Given the description of an element on the screen output the (x, y) to click on. 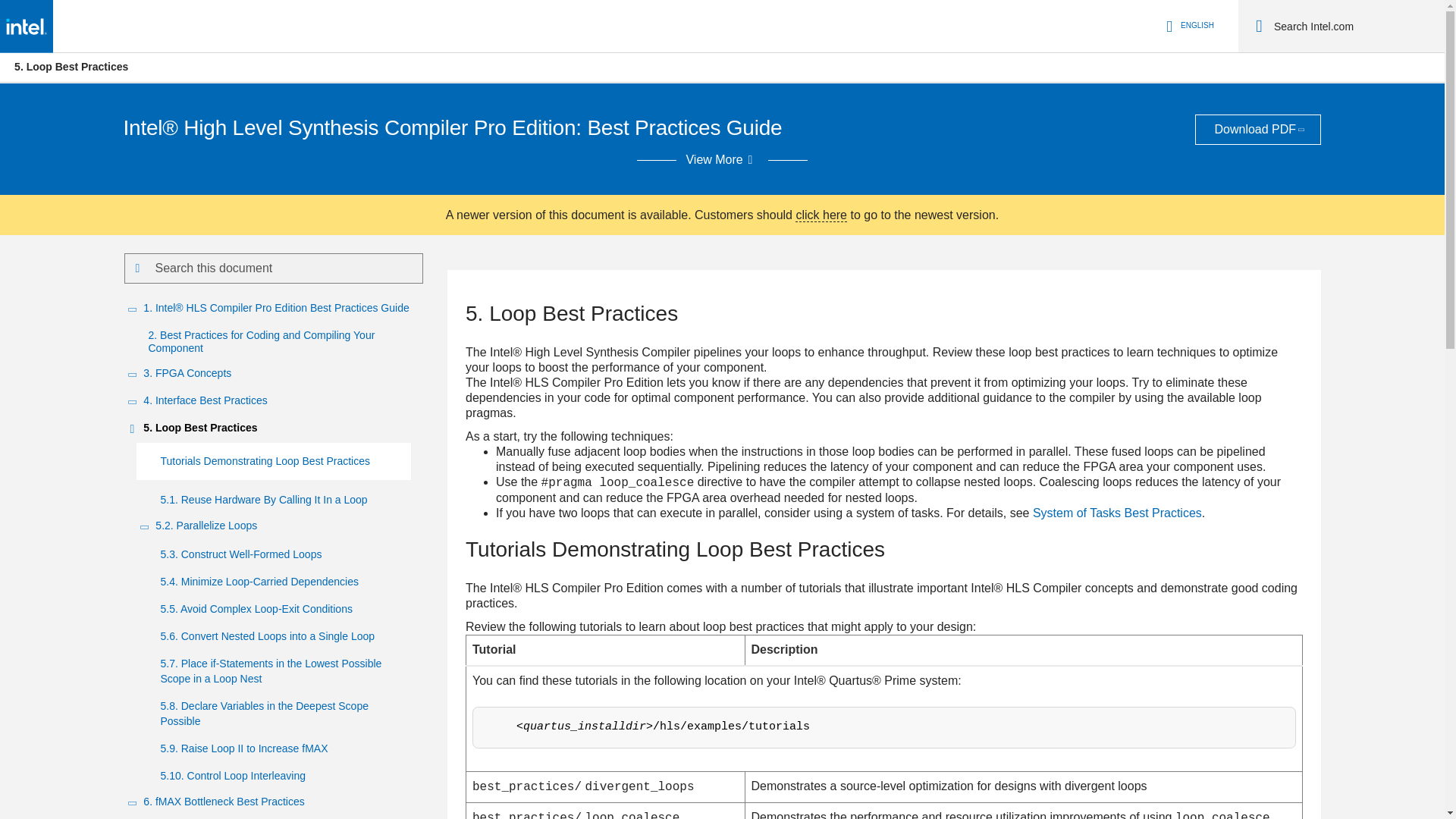
Search (1259, 26)
ENGLISH (1187, 26)
Language Selector (1187, 26)
